Given the description of an element on the screen output the (x, y) to click on. 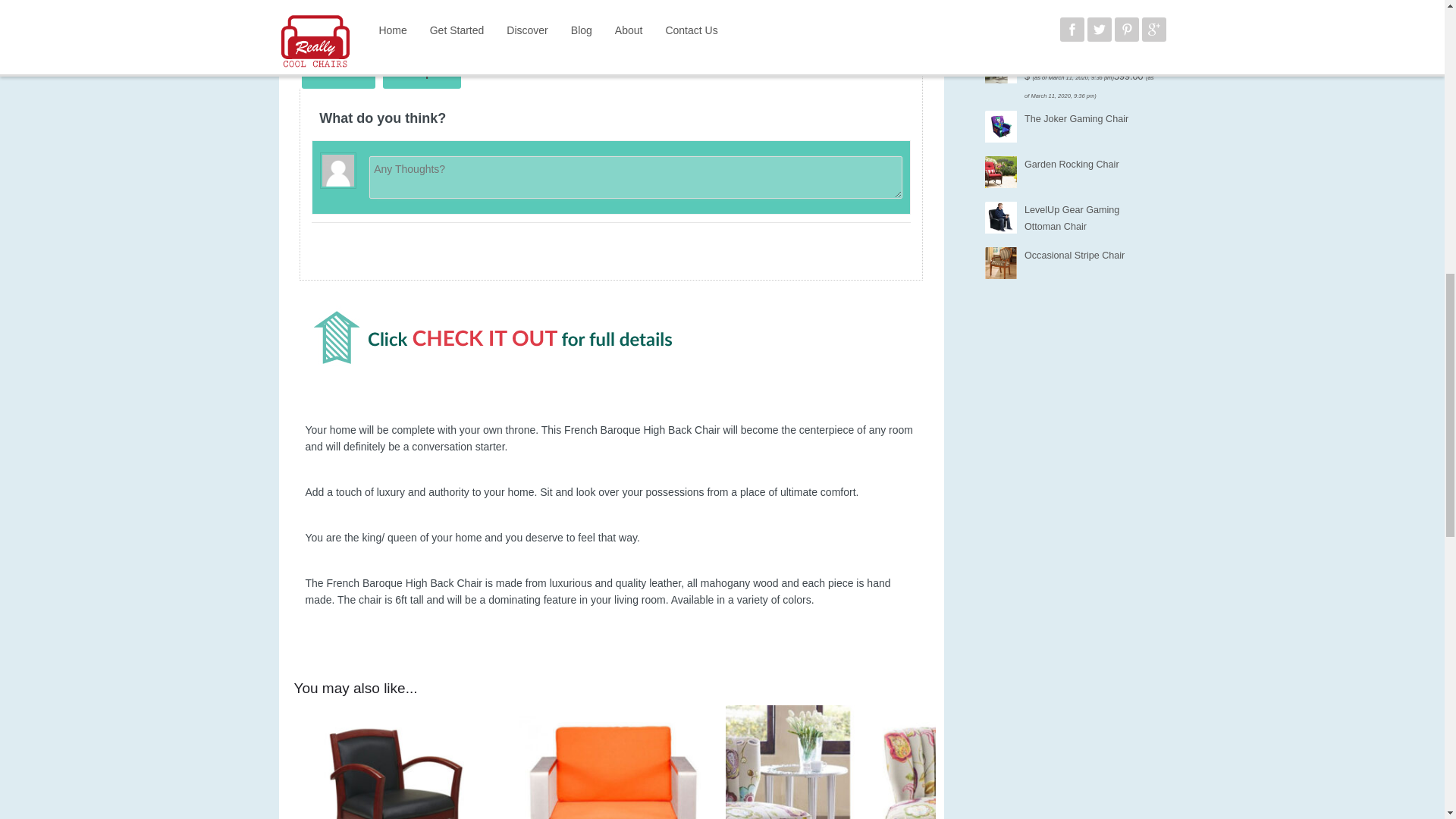
Description (421, 72)
Comments (338, 72)
CHECK IT OUT (377, 13)
